Given the description of an element on the screen output the (x, y) to click on. 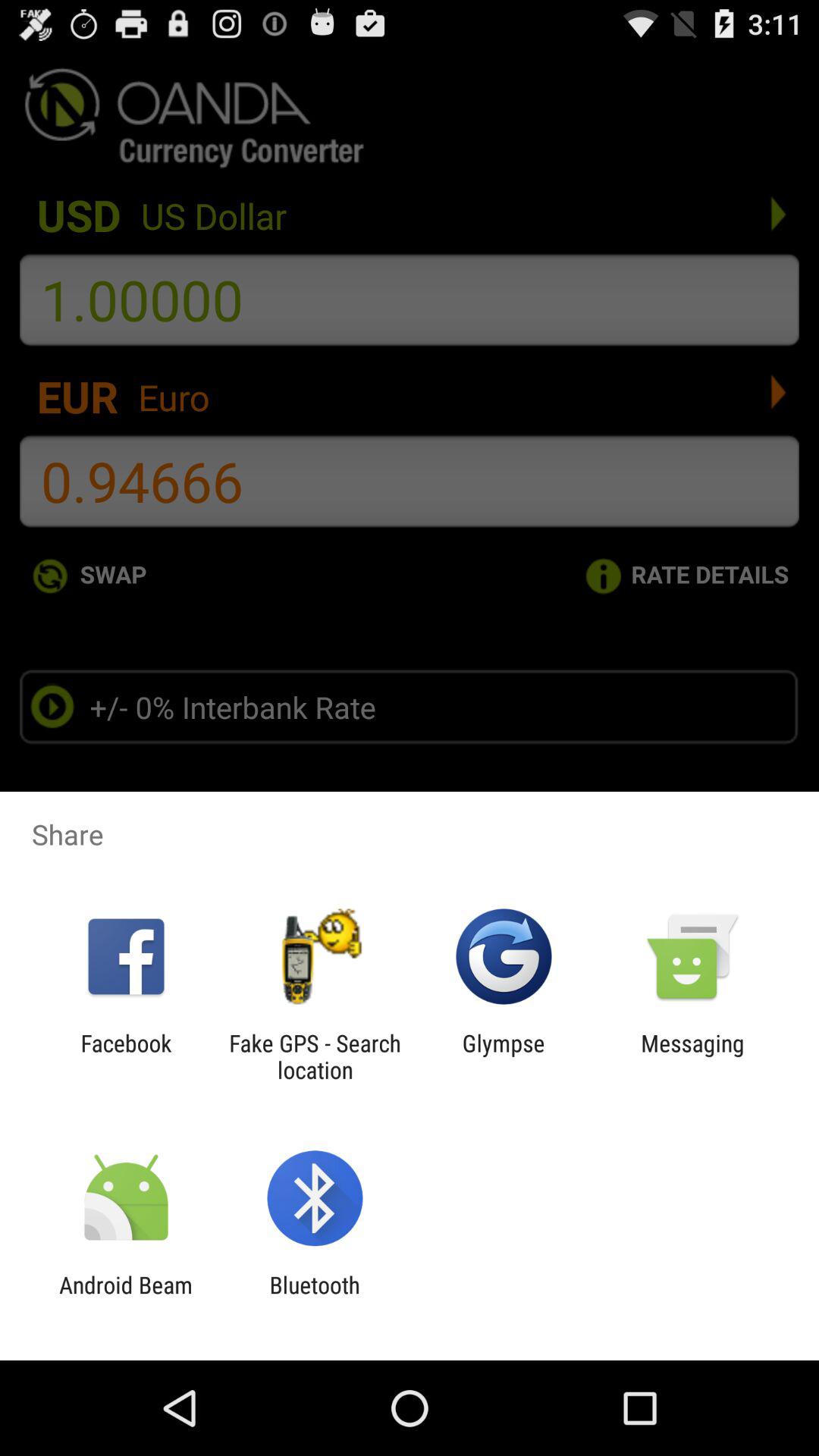
turn off item to the left of bluetooth item (125, 1298)
